Given the description of an element on the screen output the (x, y) to click on. 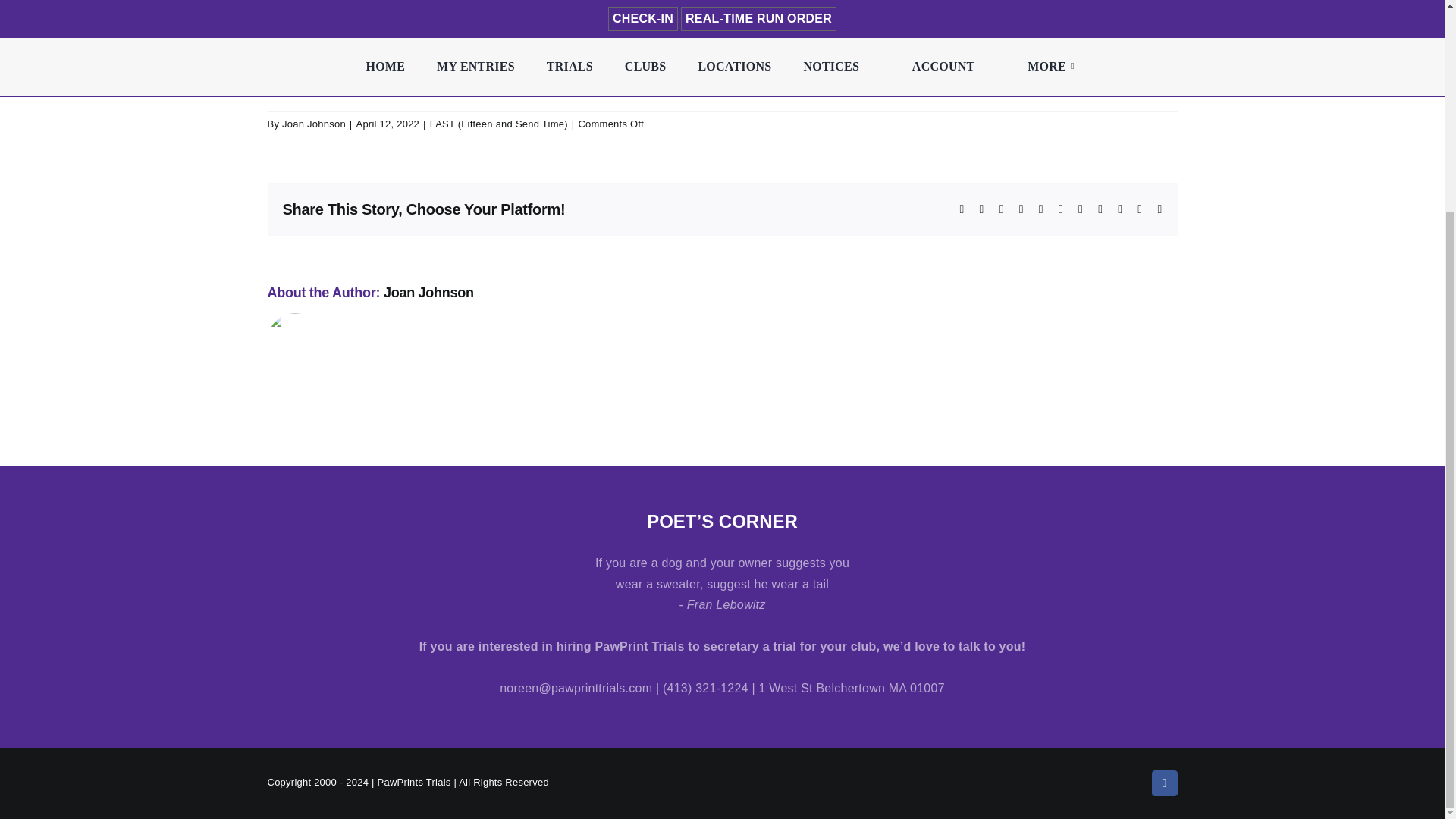
Facebook (1163, 783)
Posts by Joan Johnson (429, 292)
Facebook (1163, 783)
Posts by Joan Johnson (314, 123)
Joan Johnson (429, 292)
Joan Johnson (314, 123)
